Given the description of an element on the screen output the (x, y) to click on. 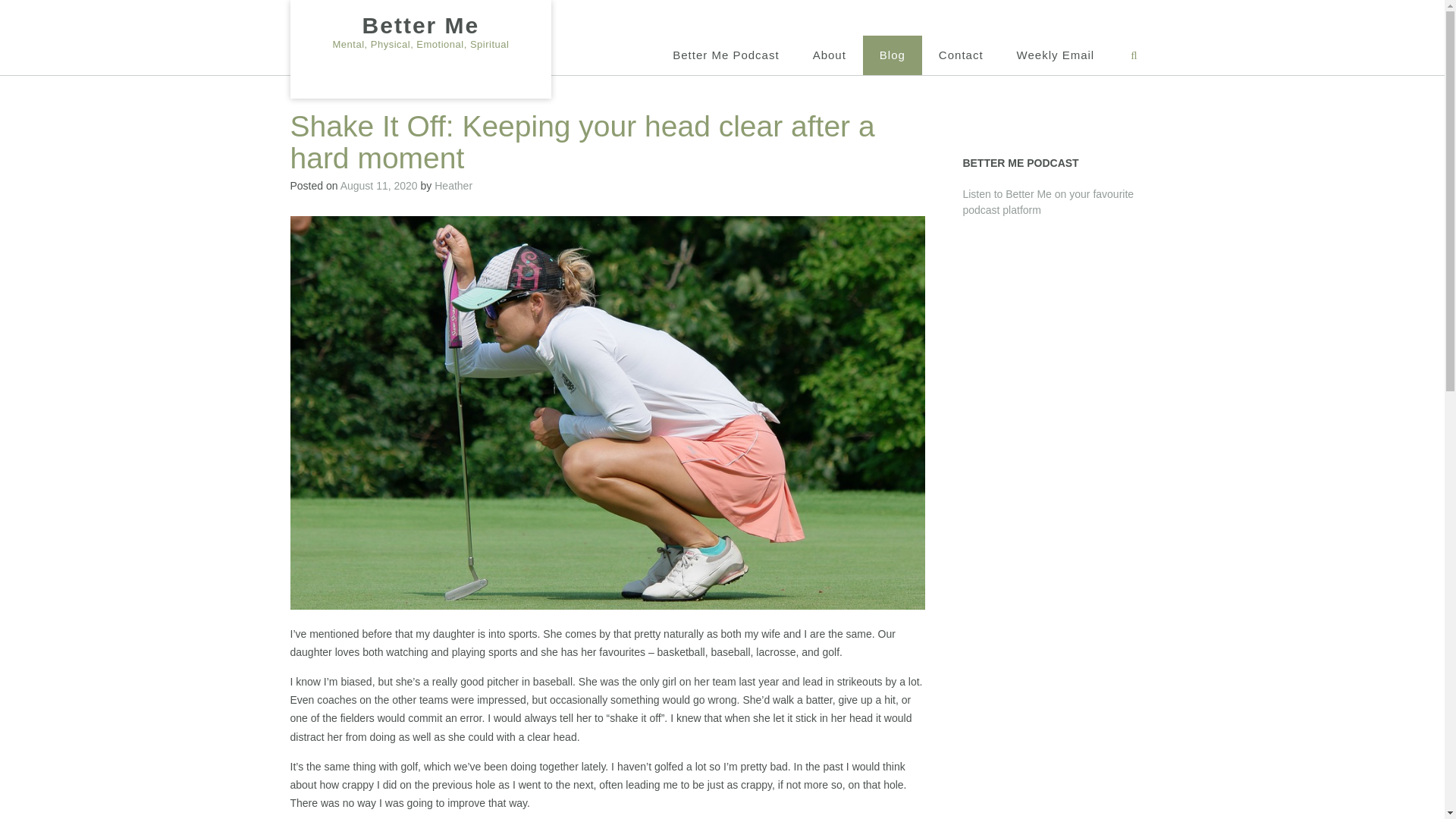
August 11, 2020 (378, 185)
Contact (960, 55)
Better Me Podcast (725, 55)
Listen to Better Me on your favourite podcast platform (1048, 202)
Blog (892, 55)
About (829, 55)
Better Me (419, 25)
Heather (452, 185)
Weekly Email (1056, 55)
